Given the description of an element on the screen output the (x, y) to click on. 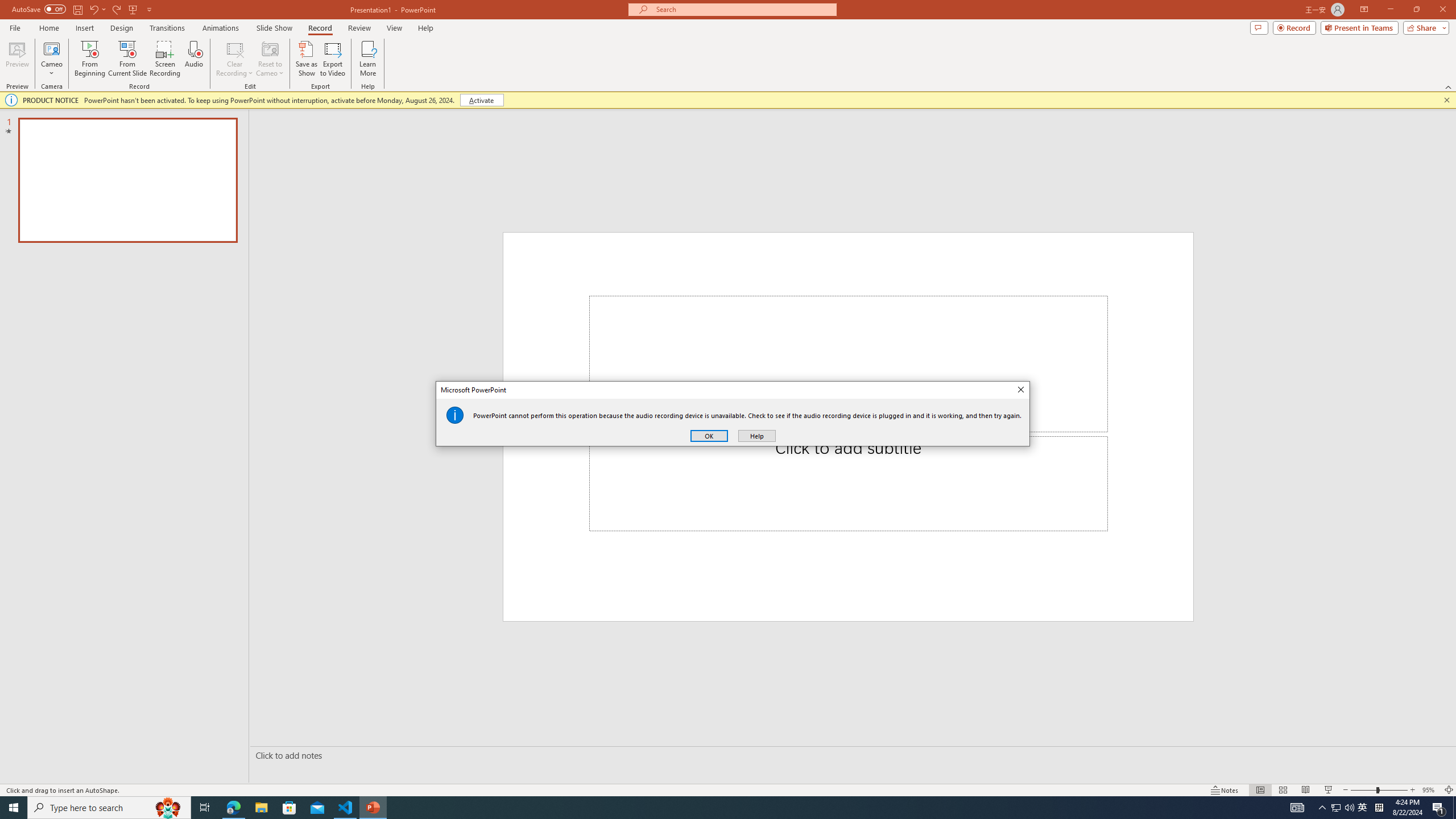
Class: Static (454, 415)
